Given the description of an element on the screen output the (x, y) to click on. 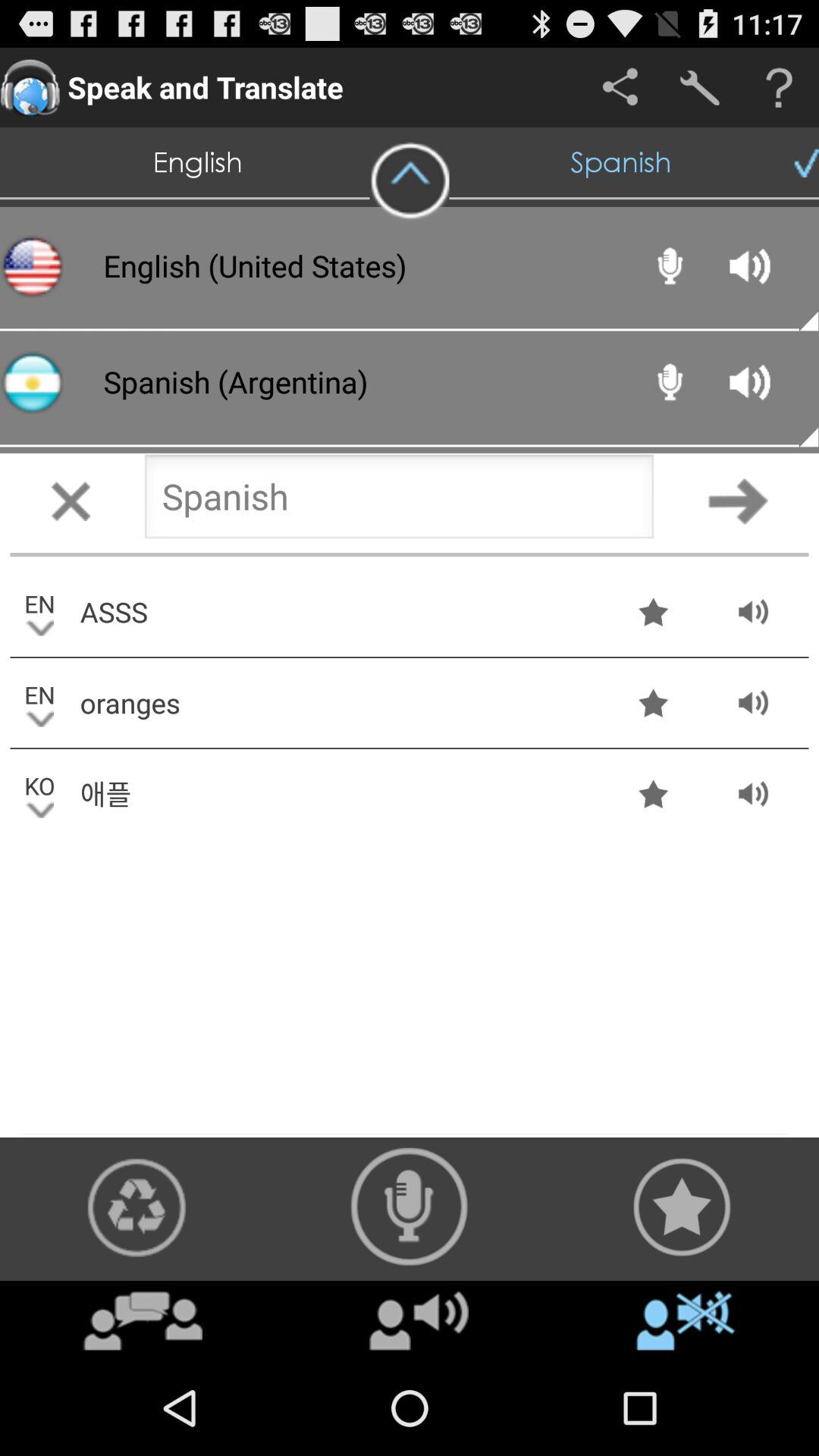
choose icon below the asss app (338, 702)
